Given the description of an element on the screen output the (x, y) to click on. 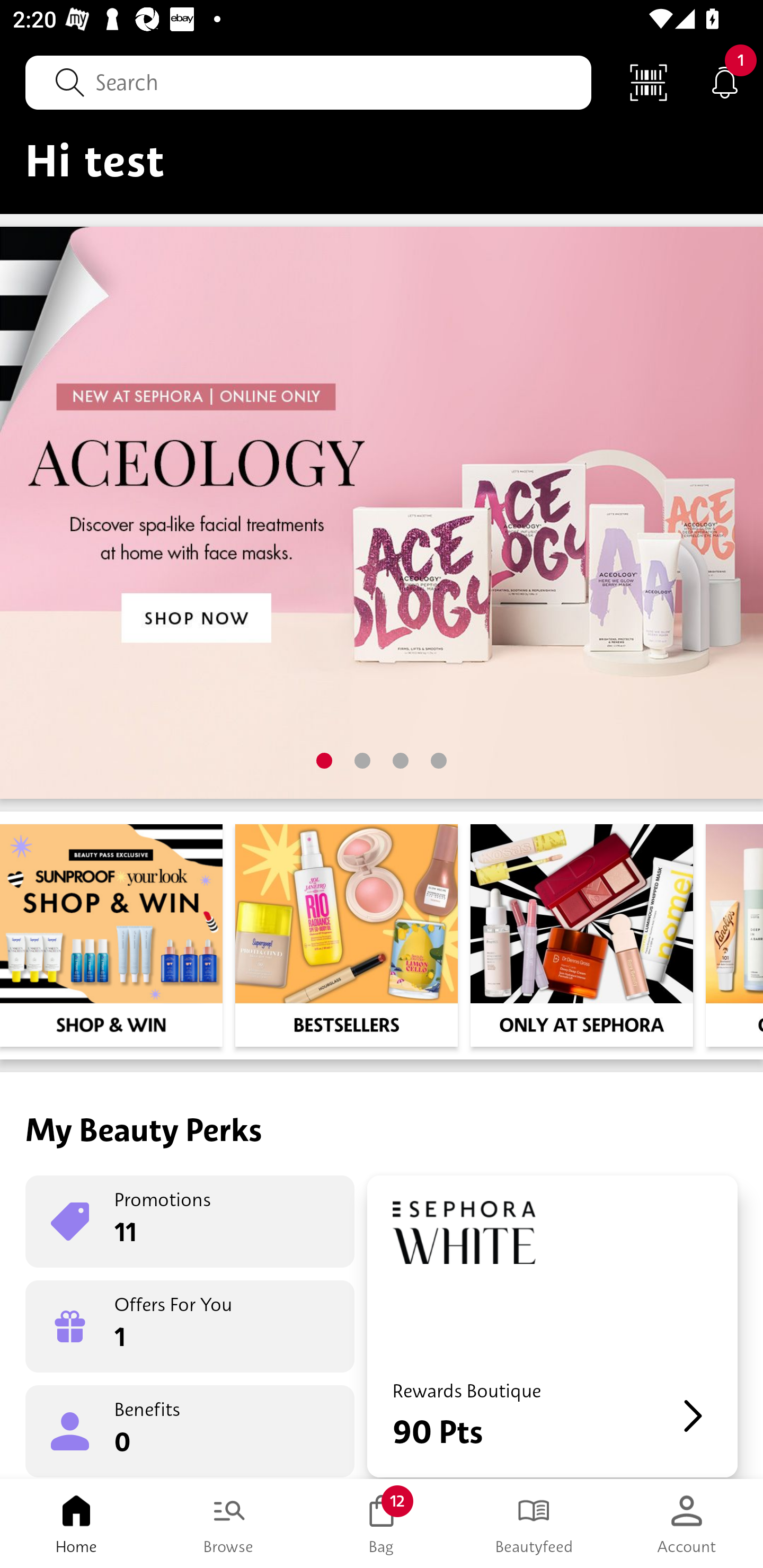
Scan Code (648, 81)
Notifications (724, 81)
Search (308, 81)
Promotions 11 (189, 1221)
Rewards Boutique 90 Pts (552, 1326)
Offers For You 1 (189, 1326)
Benefits 0 (189, 1430)
Browse (228, 1523)
Bag 12 Bag (381, 1523)
Beautyfeed (533, 1523)
Account (686, 1523)
